Given the description of an element on the screen output the (x, y) to click on. 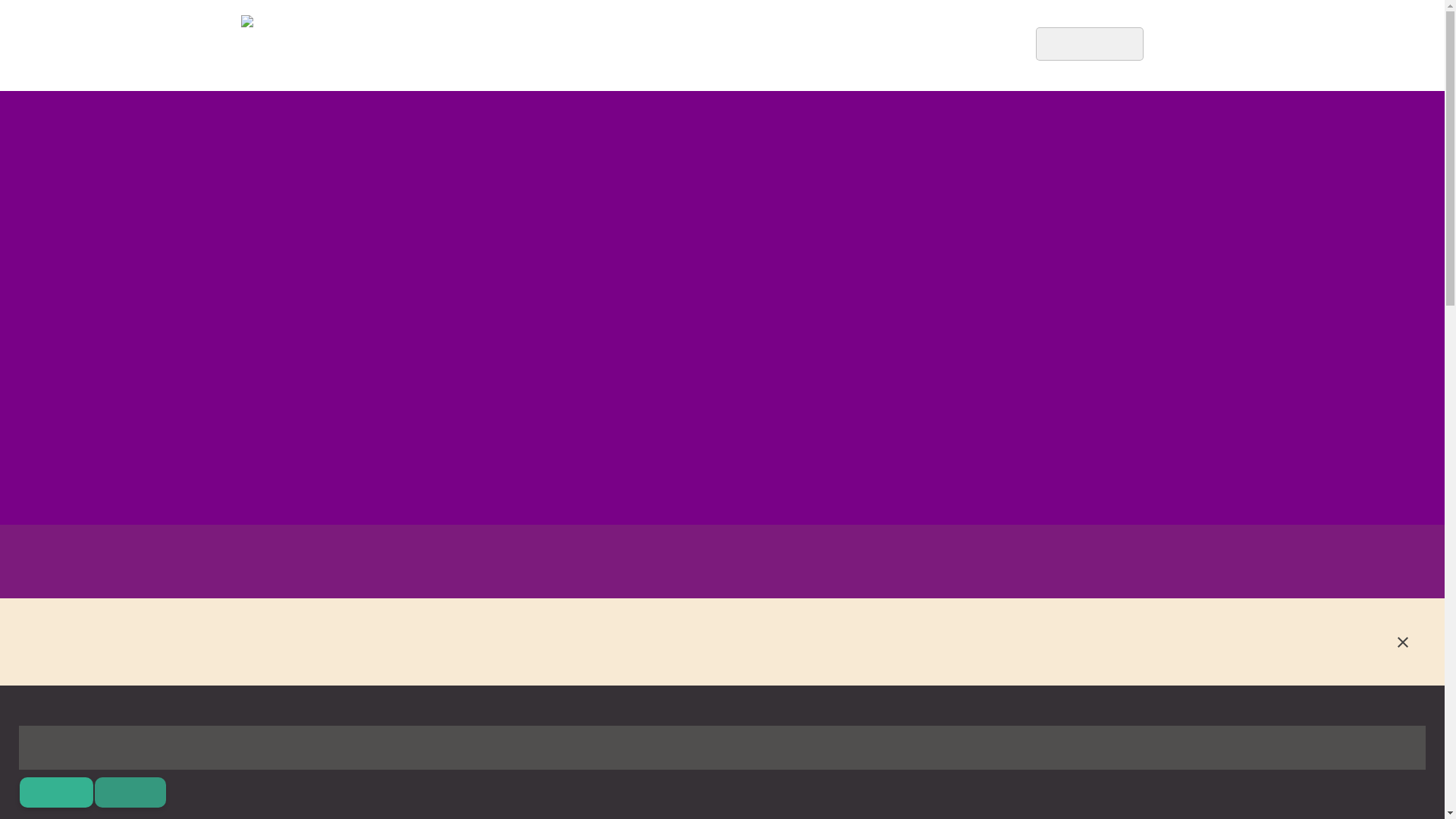
A Little About Us
Who we are. Element type: text (619, 45)
HOME
Booking Element type: text (543, 45)
CONTACT US
phone, email, etc. Element type: text (806, 45)
Our Visitors
Pictures of Dogs Element type: text (885, 45)
Go to site home page Element type: hover (288, 45)
Things to Know
Legal Stuff Element type: text (715, 45)
Go to site home page Element type: hover (484, 33)
